Given the description of an element on the screen output the (x, y) to click on. 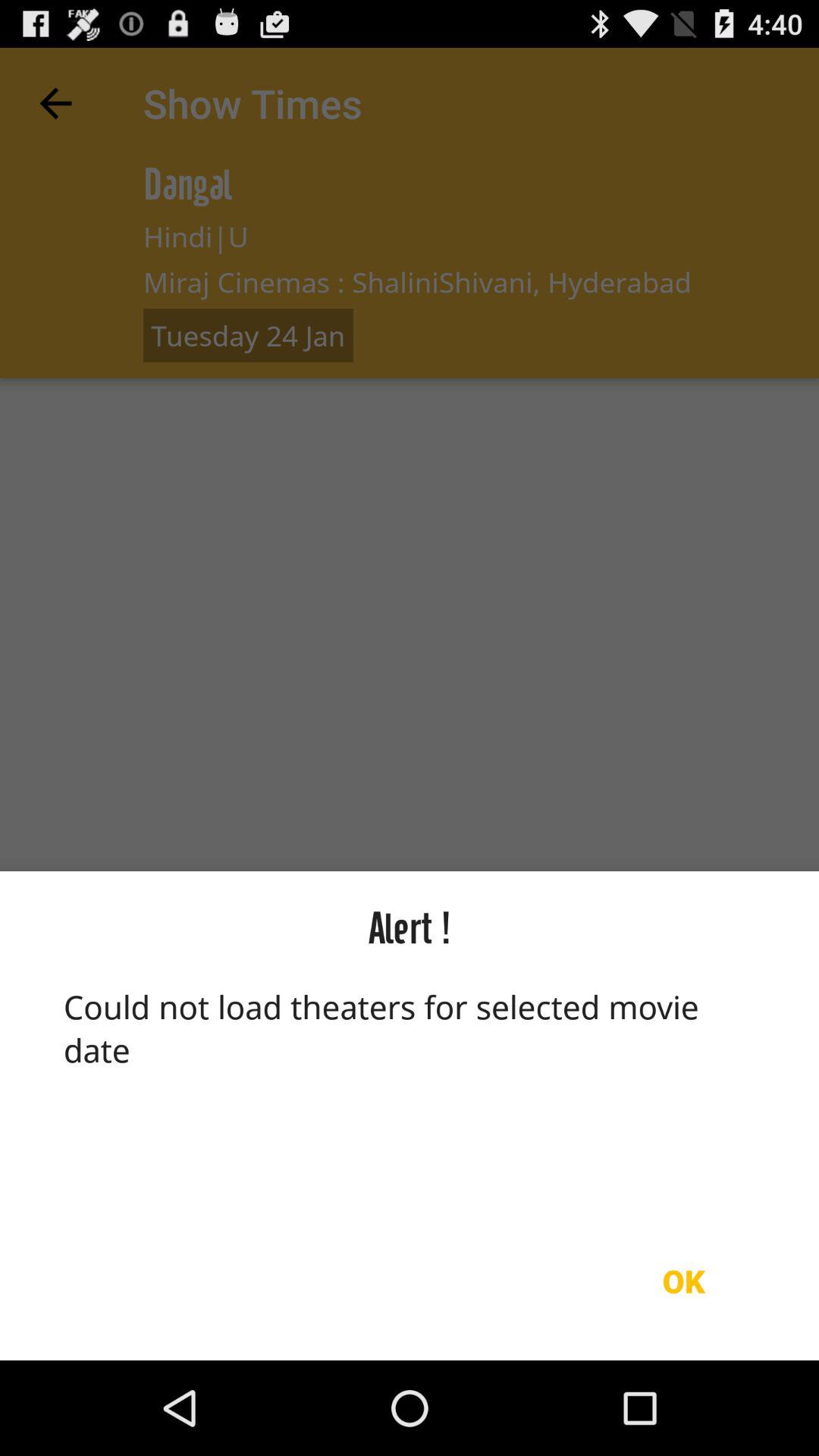
click the item above ok (409, 1093)
